Given the description of an element on the screen output the (x, y) to click on. 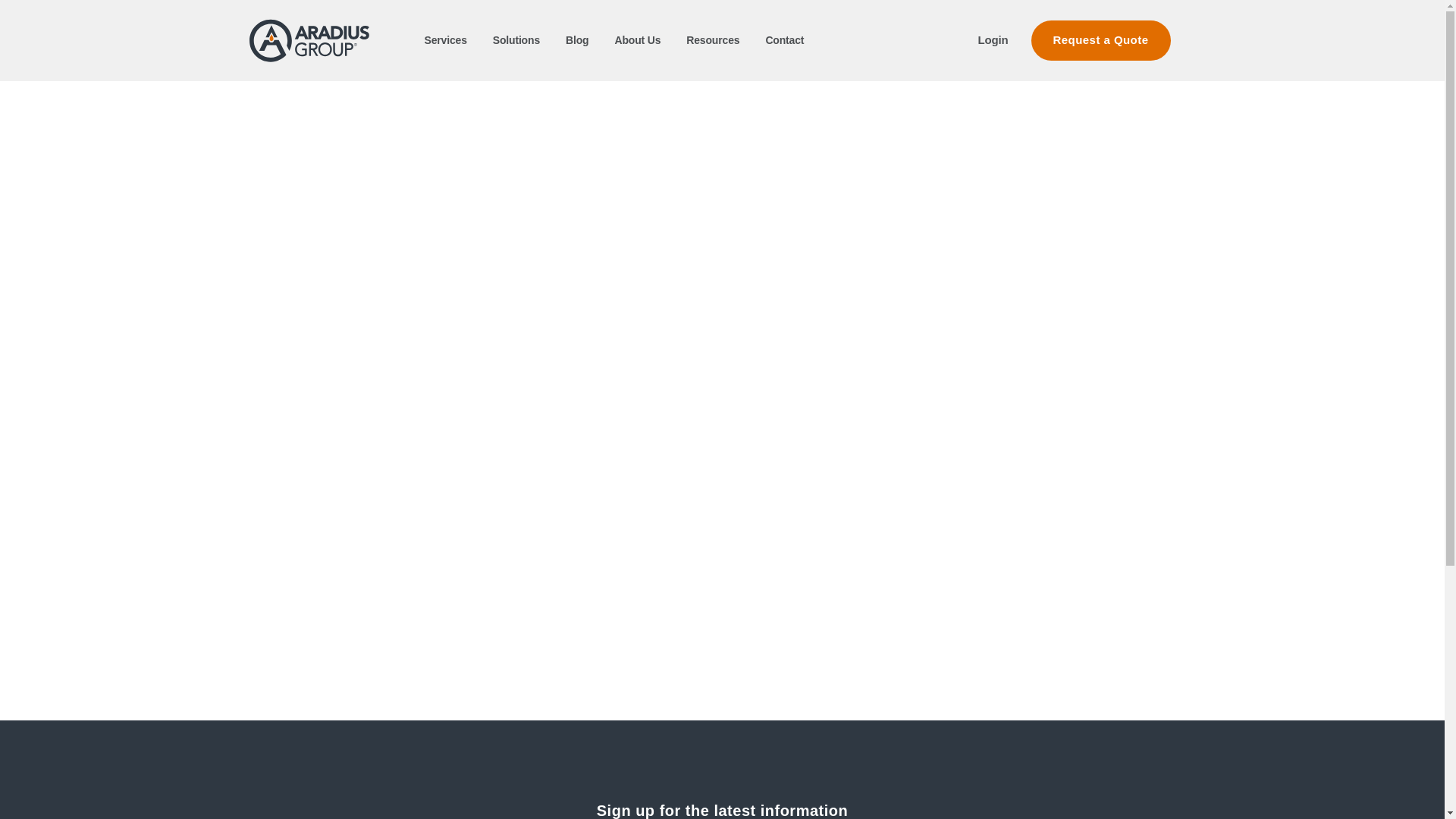
Solutions (516, 39)
Contact (784, 39)
Blog (577, 39)
Request a Quote (1100, 40)
Resources (712, 39)
About Us (637, 39)
Login (993, 39)
Services (446, 39)
